Given the description of an element on the screen output the (x, y) to click on. 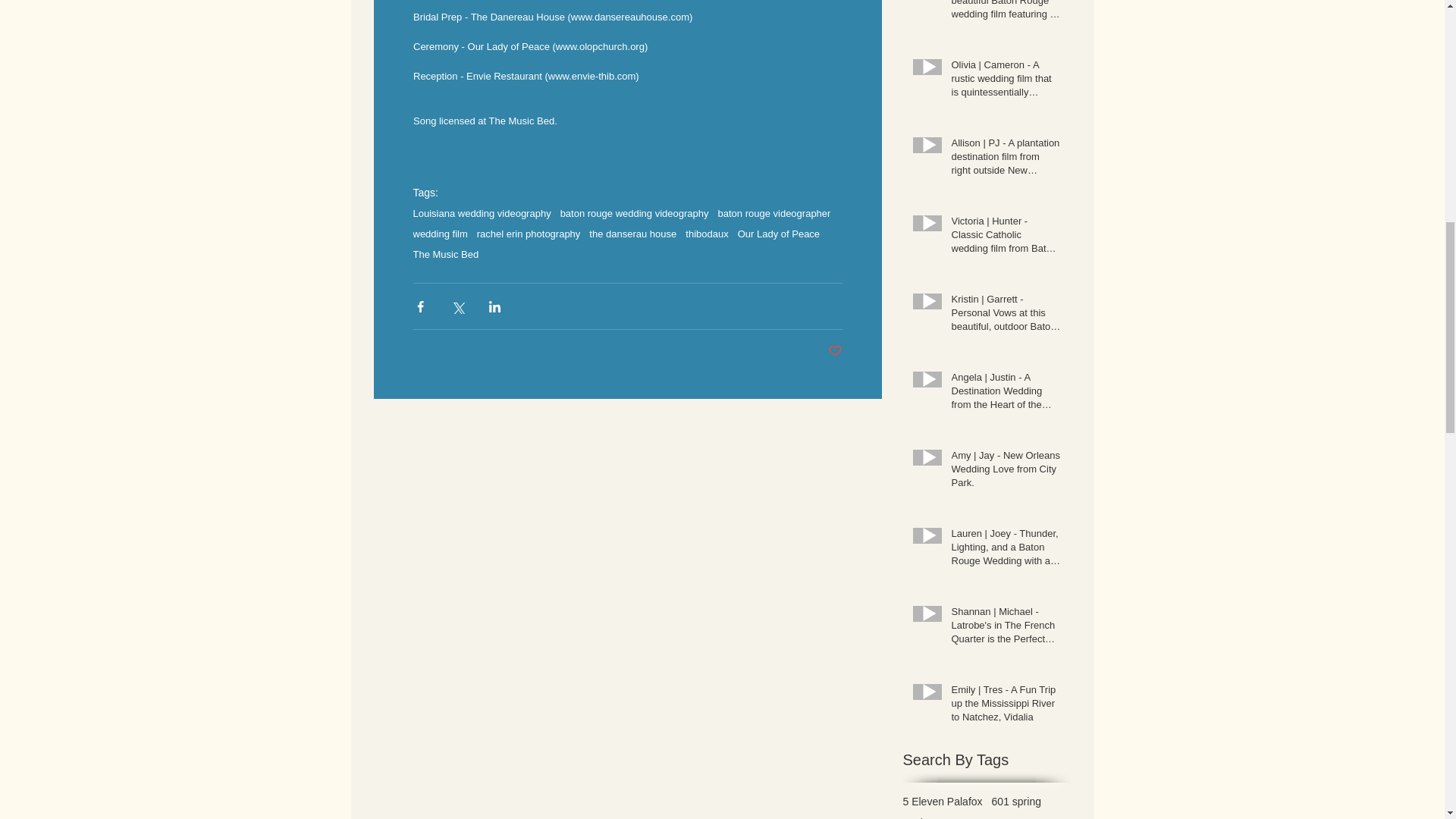
Our Lady of Peace (778, 233)
Louisiana wedding videography (481, 213)
baton rouge wedding videography (634, 213)
601 spring (1016, 801)
the danserau house (633, 233)
Post not marked as liked (835, 351)
wedding film (439, 233)
ABrittFace (927, 817)
The Music Bed (445, 254)
thibodaux (706, 233)
